Given the description of an element on the screen output the (x, y) to click on. 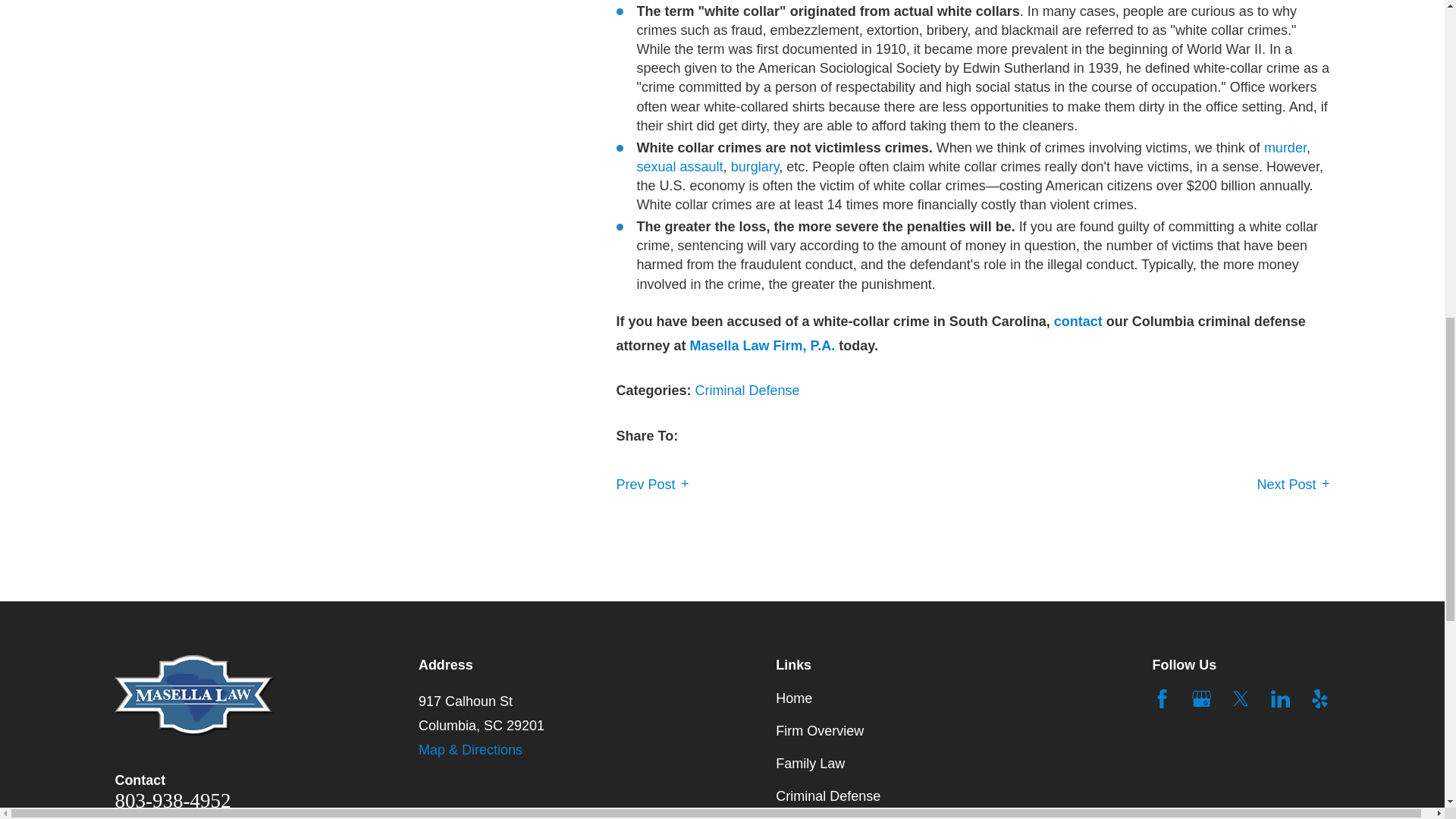
Facebook (1162, 698)
Google Business Profile (1201, 698)
Home (267, 695)
Twitter (1240, 698)
Masella Law Firm, P.A. (195, 695)
